Given the description of an element on the screen output the (x, y) to click on. 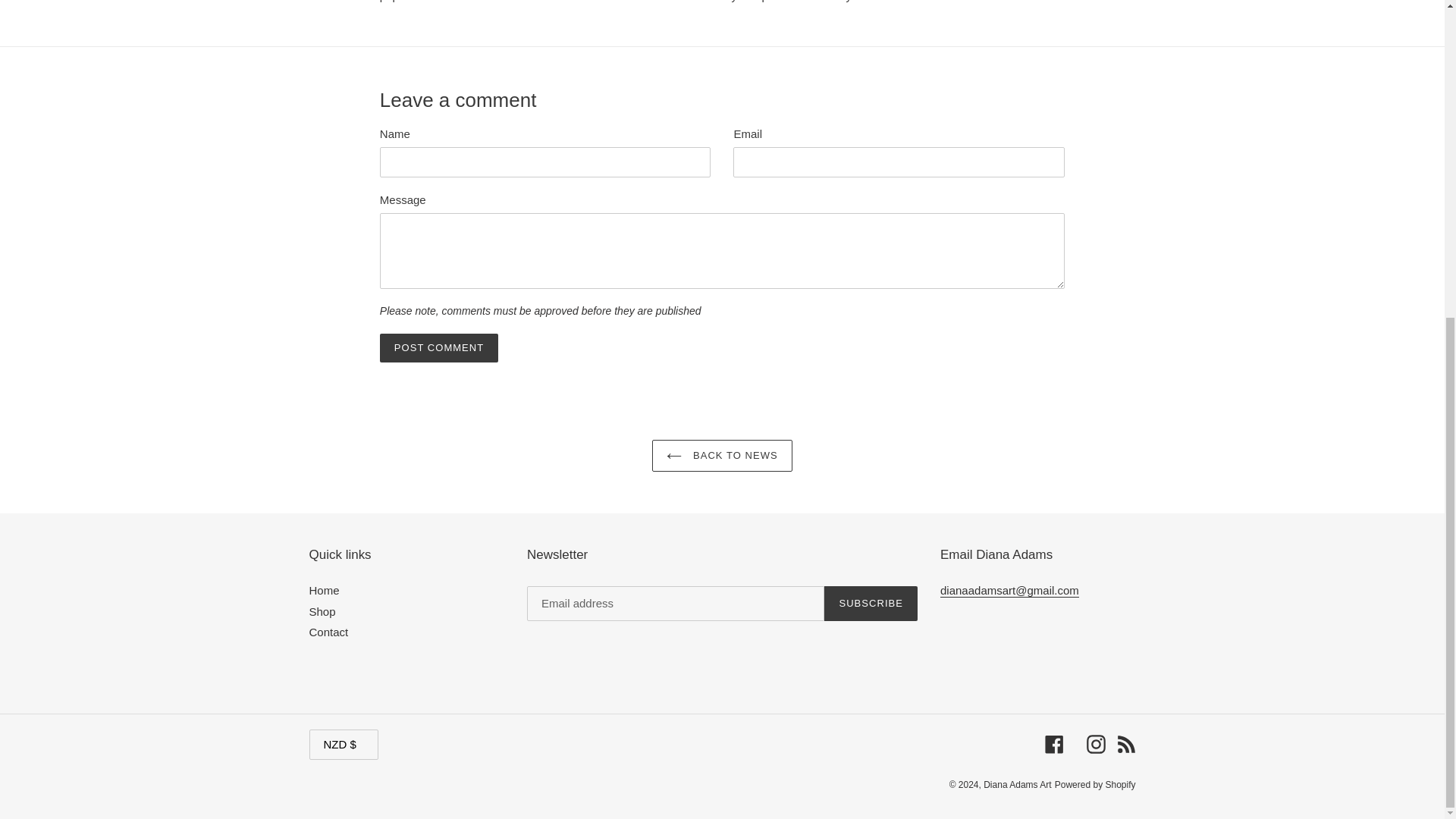
BACK TO NEWS (722, 455)
Post comment (438, 347)
Post comment (438, 347)
